Given the description of an element on the screen output the (x, y) to click on. 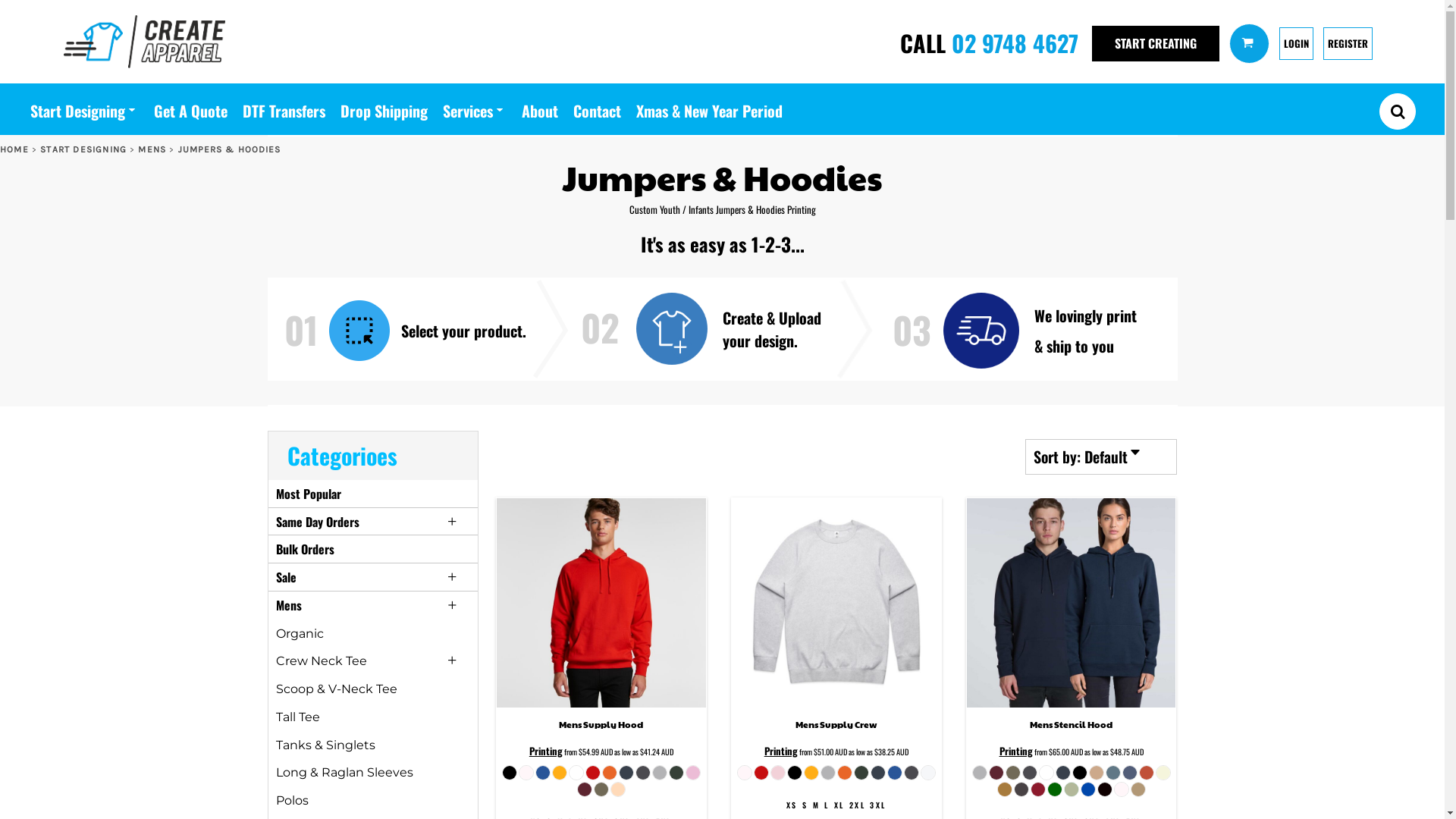
Bulk Orders Element type: text (305, 548)
Organic Element type: text (299, 633)
HOME Element type: text (14, 149)
Contact Element type: text (597, 108)
AS Colour Mens Supply Hood  5101 Supply Hood  Element type: hover (600, 602)
MENS Element type: text (152, 149)
Mens Supply Hood Element type: text (600, 724)
Get A Quote Element type: text (190, 108)
About Element type: text (539, 108)
Drop Shipping Element type: text (383, 108)
Sale Element type: text (286, 576)
Tall Tee Element type: text (298, 716)
Scoop & V-Neck Tee Element type: text (336, 688)
LOGIN Element type: text (1295, 42)
Printing Element type: text (780, 750)
Start Designing Element type: text (84, 108)
Crew Neck Tee Element type: text (321, 660)
Tanks & Singlets Element type: text (325, 744)
Long & Raglan Sleeves Element type: text (344, 772)
Printing Element type: text (545, 750)
Xmas & New Year Period Element type: text (709, 108)
START DESIGNING Element type: text (83, 149)
Most Popular Element type: text (308, 493)
REGISTER Element type: text (1347, 42)
AS Colour Mens Supply Crew 5100 Supply Crew Element type: hover (836, 602)
DTF Transfers Element type: text (283, 108)
Mens Element type: text (288, 605)
Same Day Orders Element type: text (317, 521)
Printing Element type: text (1015, 750)
AS Colour Mens Stencil Hood  5102 Stencil Hood Element type: hover (1071, 602)
Services Element type: text (474, 108)
Mens Stencil Hood Element type: text (1070, 724)
Polos Element type: text (292, 800)
Mens Supply Crew Element type: text (835, 724)
START CREATING Element type: text (1155, 43)
